Given the description of an element on the screen output the (x, y) to click on. 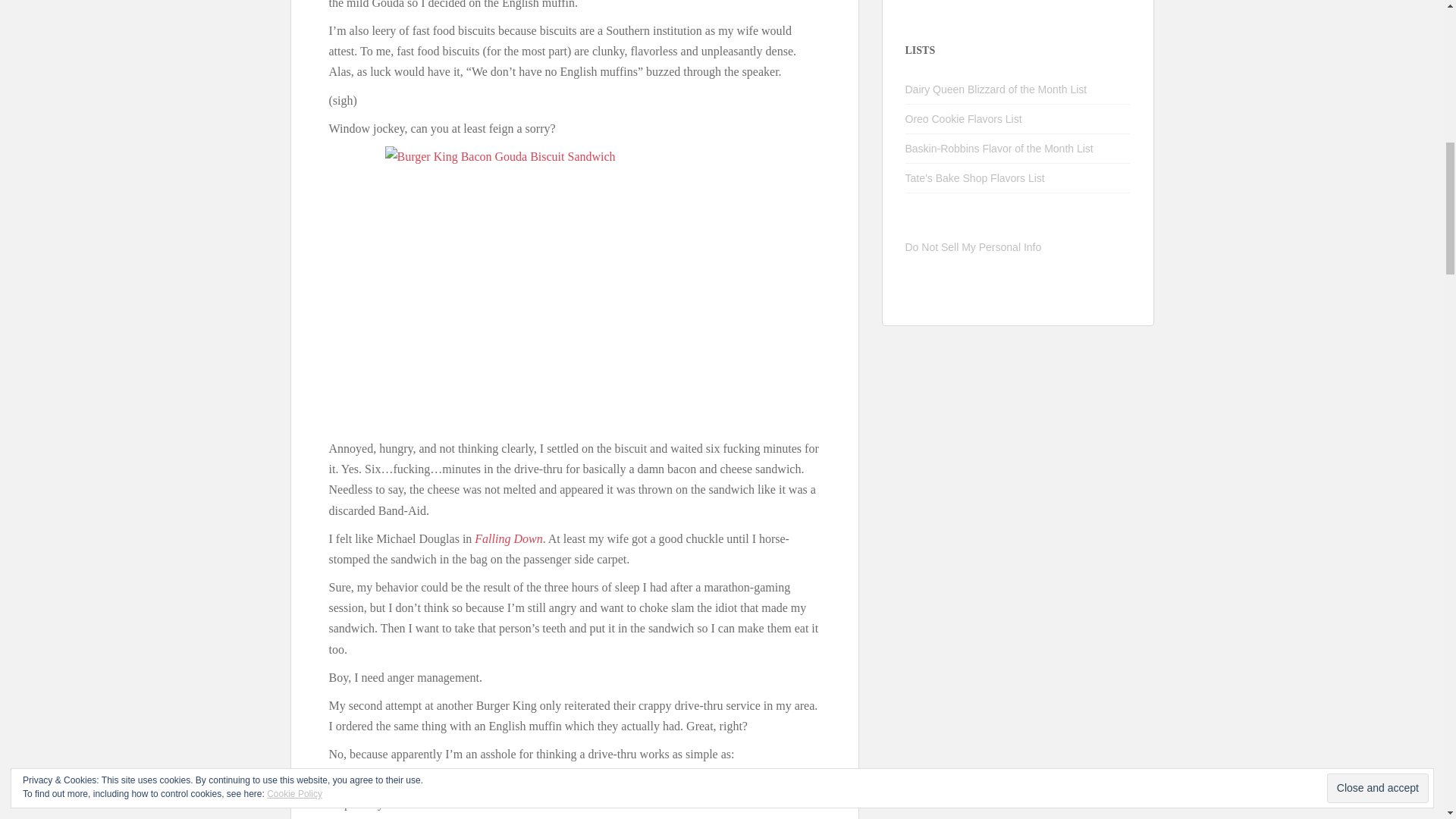
Burger King Bacon Gouda Biscuit Sandwich (574, 288)
Falling Down (507, 538)
